Given the description of an element on the screen output the (x, y) to click on. 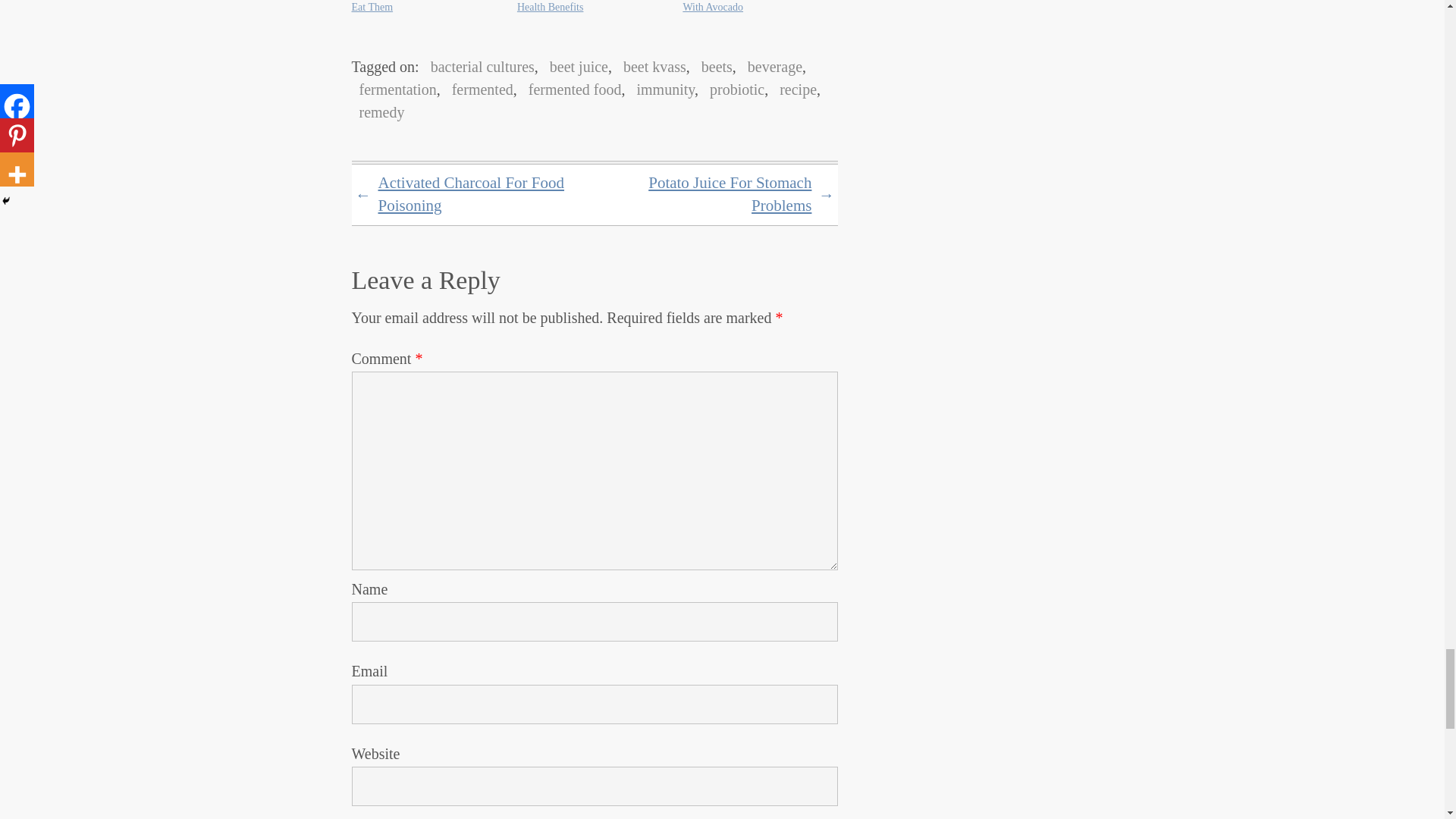
immunity (661, 89)
bacterial cultures (478, 66)
What Is Kefir And Its Amazing Health Benefits (582, 6)
What Is Kefir And Its Amazing Health Benefits (582, 6)
fermented (478, 89)
probiotic (732, 89)
beet kvass (650, 66)
beets (713, 66)
Probiotic-Rich Smoothie Recipe With Avocado (751, 6)
beverage (770, 66)
